Given the description of an element on the screen output the (x, y) to click on. 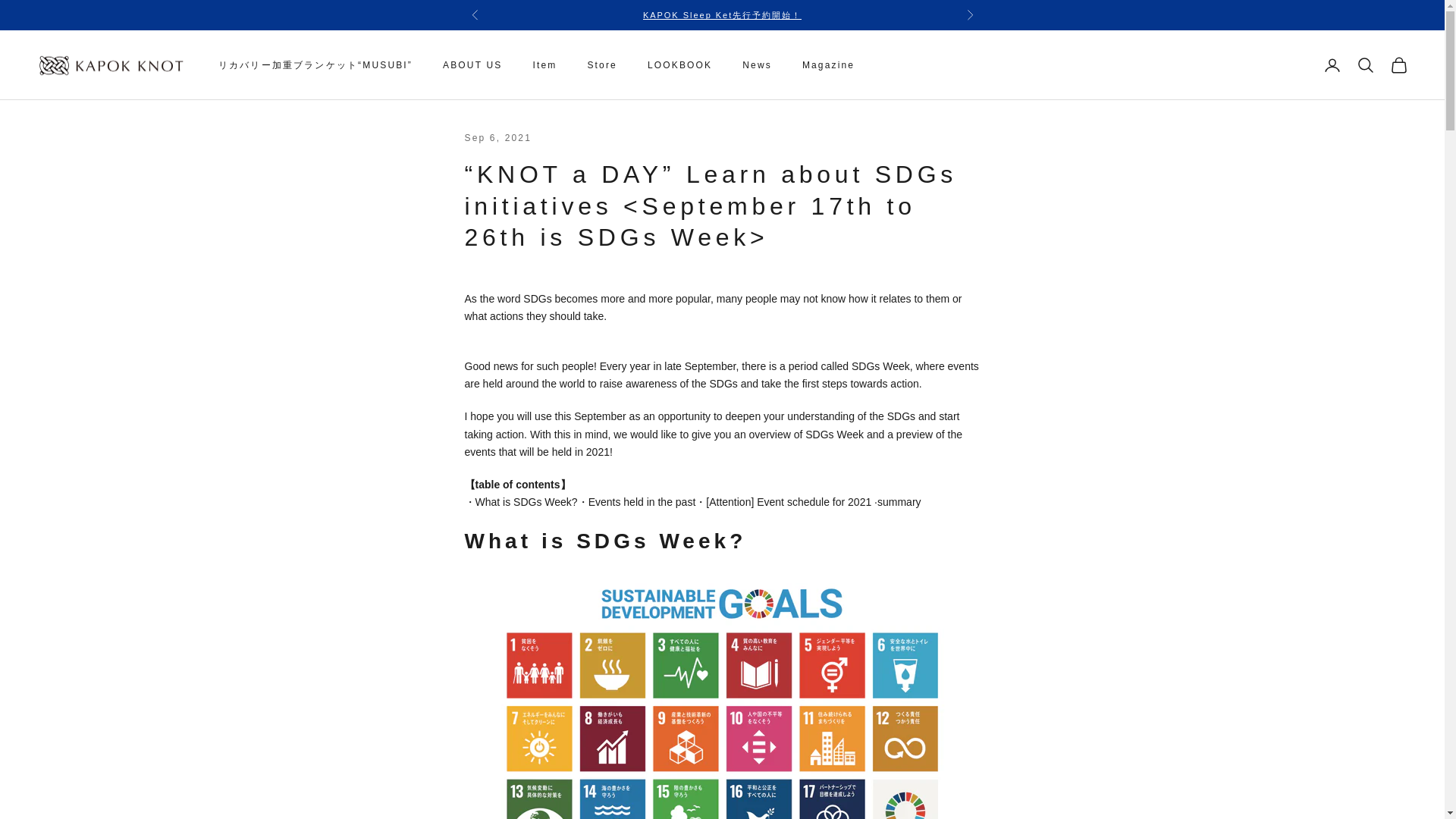
Open cart (1398, 65)
KAPOK KNOT (111, 65)
Store (600, 64)
News (756, 64)
Open search (1365, 65)
Magazine (828, 64)
Open account page (1331, 65)
ABOUT US (472, 64)
LOOKBOOK (679, 64)
